Given the description of an element on the screen output the (x, y) to click on. 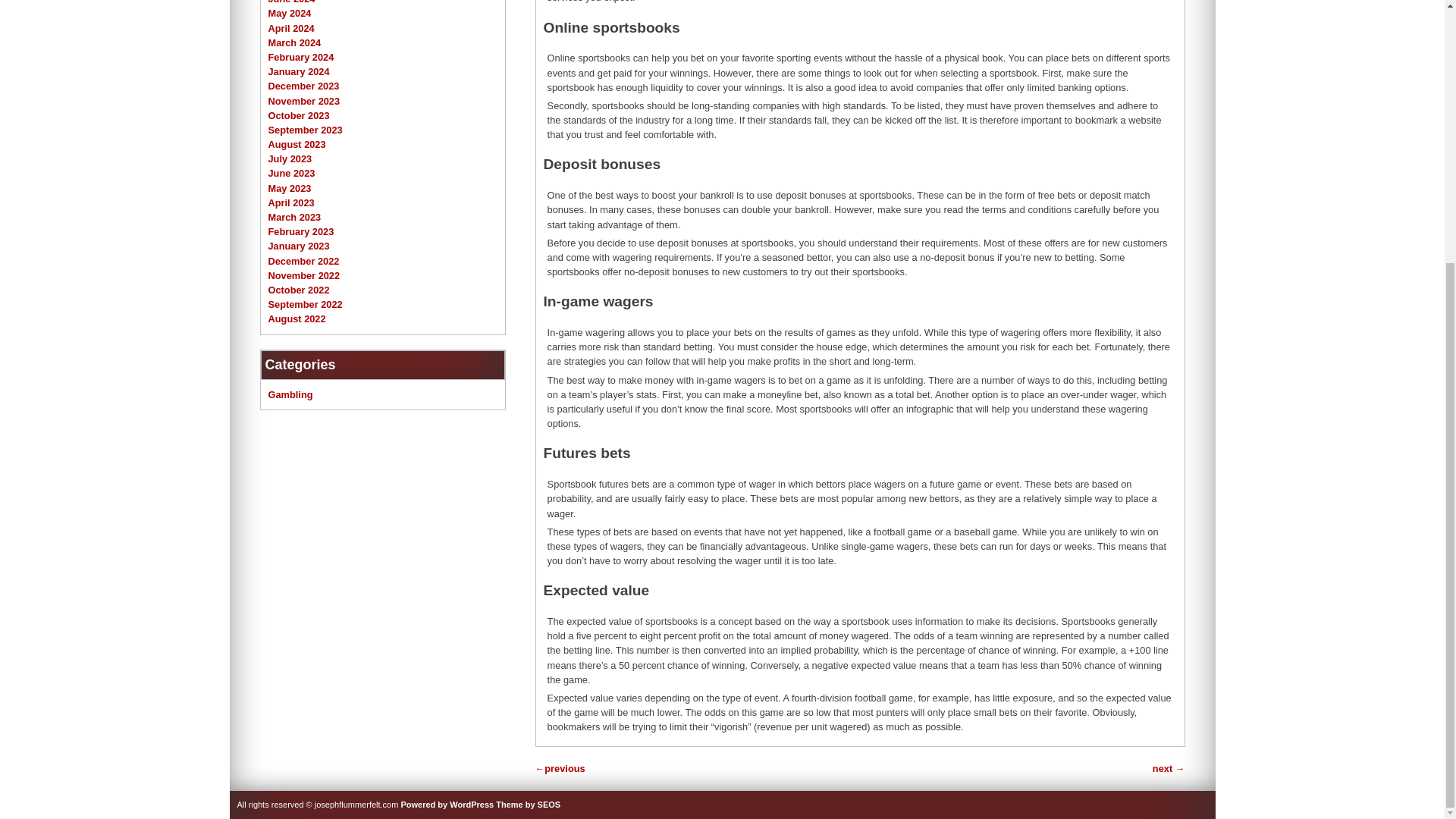
August 2023 (296, 143)
February 2024 (300, 57)
September 2023 (304, 129)
November 2023 (303, 100)
July 2023 (290, 158)
October 2022 (298, 289)
January 2023 (298, 245)
April 2023 (290, 202)
Gambling (290, 394)
June 2024 (291, 2)
December 2023 (303, 85)
Seos free wordpress themes (528, 804)
June 2023 (291, 173)
December 2022 (303, 260)
August 2022 (296, 318)
